Given the description of an element on the screen output the (x, y) to click on. 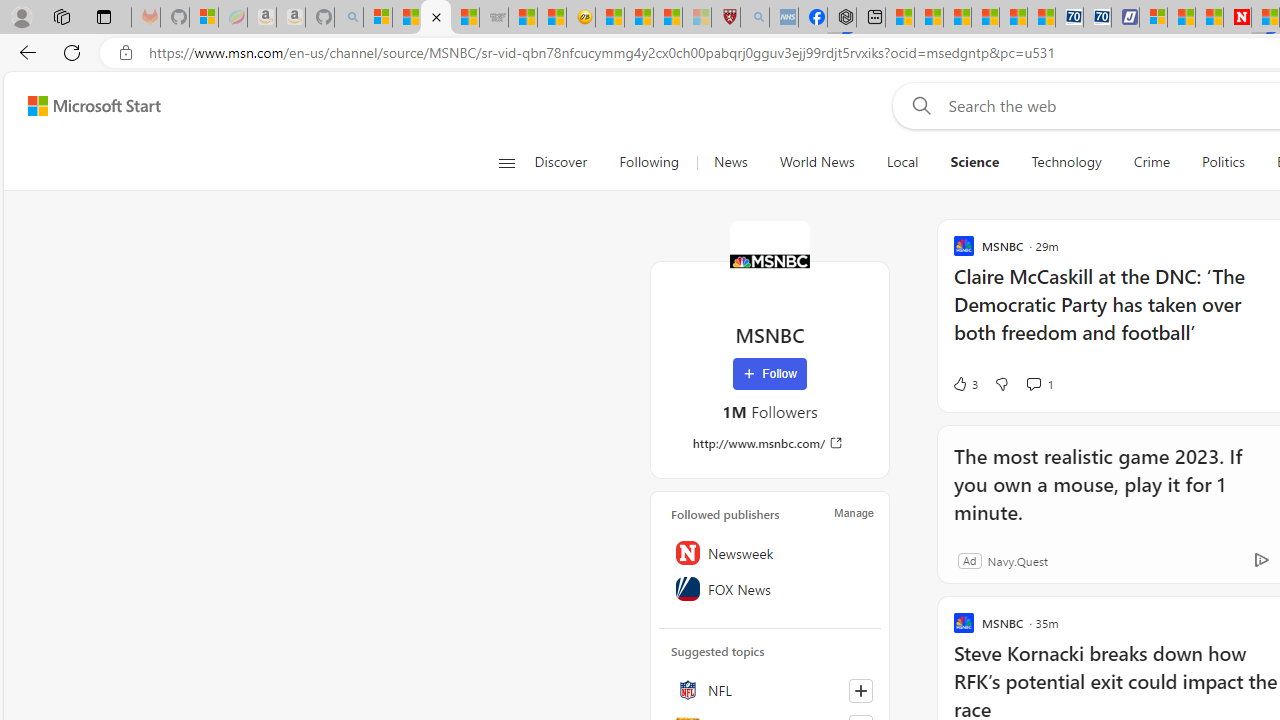
http://www.msnbc.com/ (769, 443)
Open navigation menu (506, 162)
12 Popular Science Lies that Must be Corrected - Sleeping (696, 17)
Newsweek - News, Analysis, Politics, Business, Technology (1236, 17)
